Given the description of an element on the screen output the (x, y) to click on. 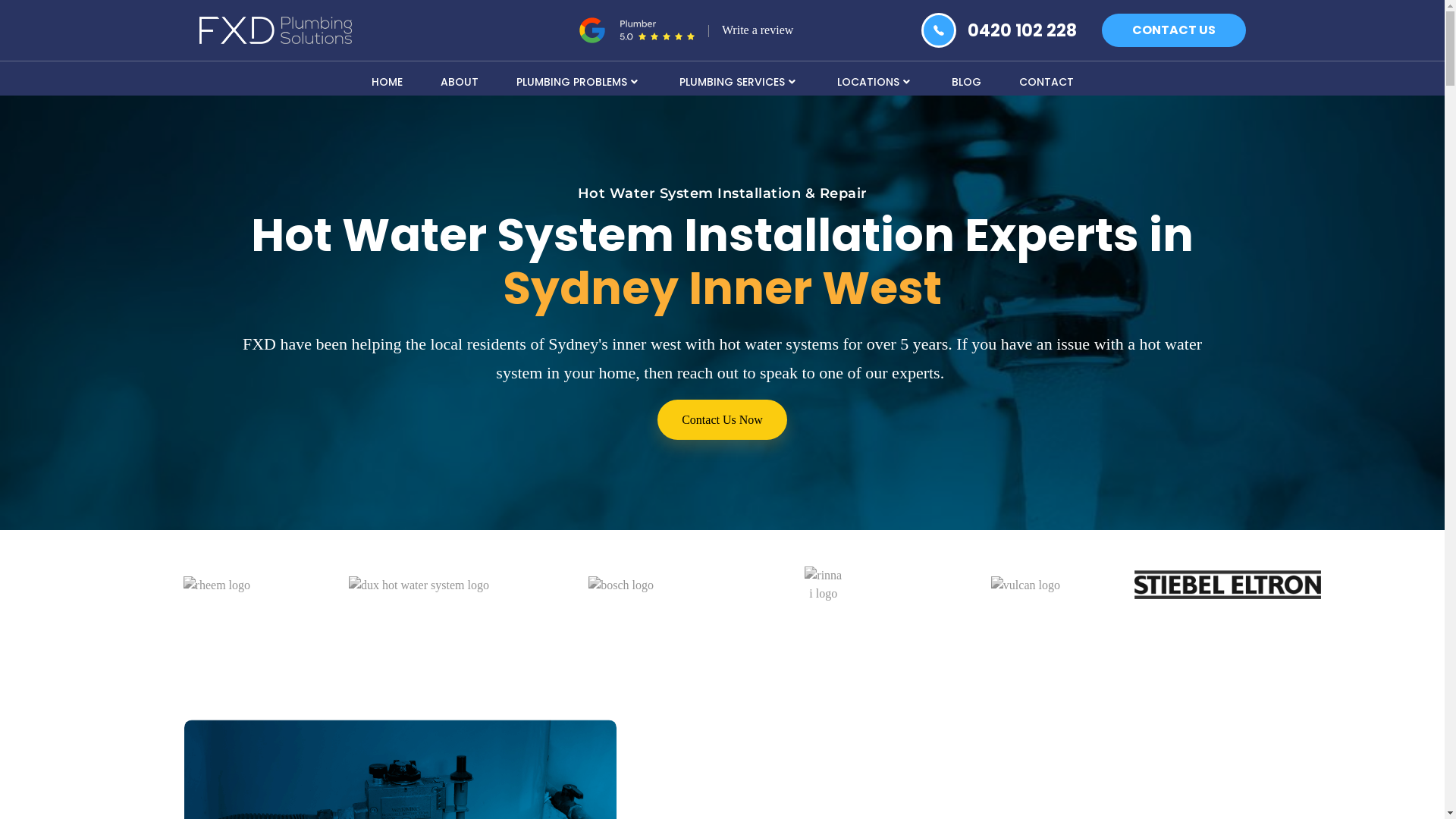
rinnai logo Element type: hover (822, 584)
LOCATIONS Element type: text (874, 80)
ABOUT Element type: text (459, 80)
rheem logo Element type: hover (216, 585)
dux hot water system logo Element type: hover (418, 585)
0420 102 228 Element type: text (1021, 30)
Contact Us Now Element type: text (722, 419)
PLUMBING PROBLEMS Element type: text (578, 80)
vulcan logo Element type: hover (1025, 585)
HOME Element type: text (385, 80)
BLOG Element type: text (966, 80)
CONTACT Element type: text (1045, 80)
PLUMBING SERVICES Element type: text (738, 80)
CONTACT US Element type: text (1173, 30)
bosch logo Element type: hover (620, 585)
Write a review Element type: text (757, 30)
